Given the description of an element on the screen output the (x, y) to click on. 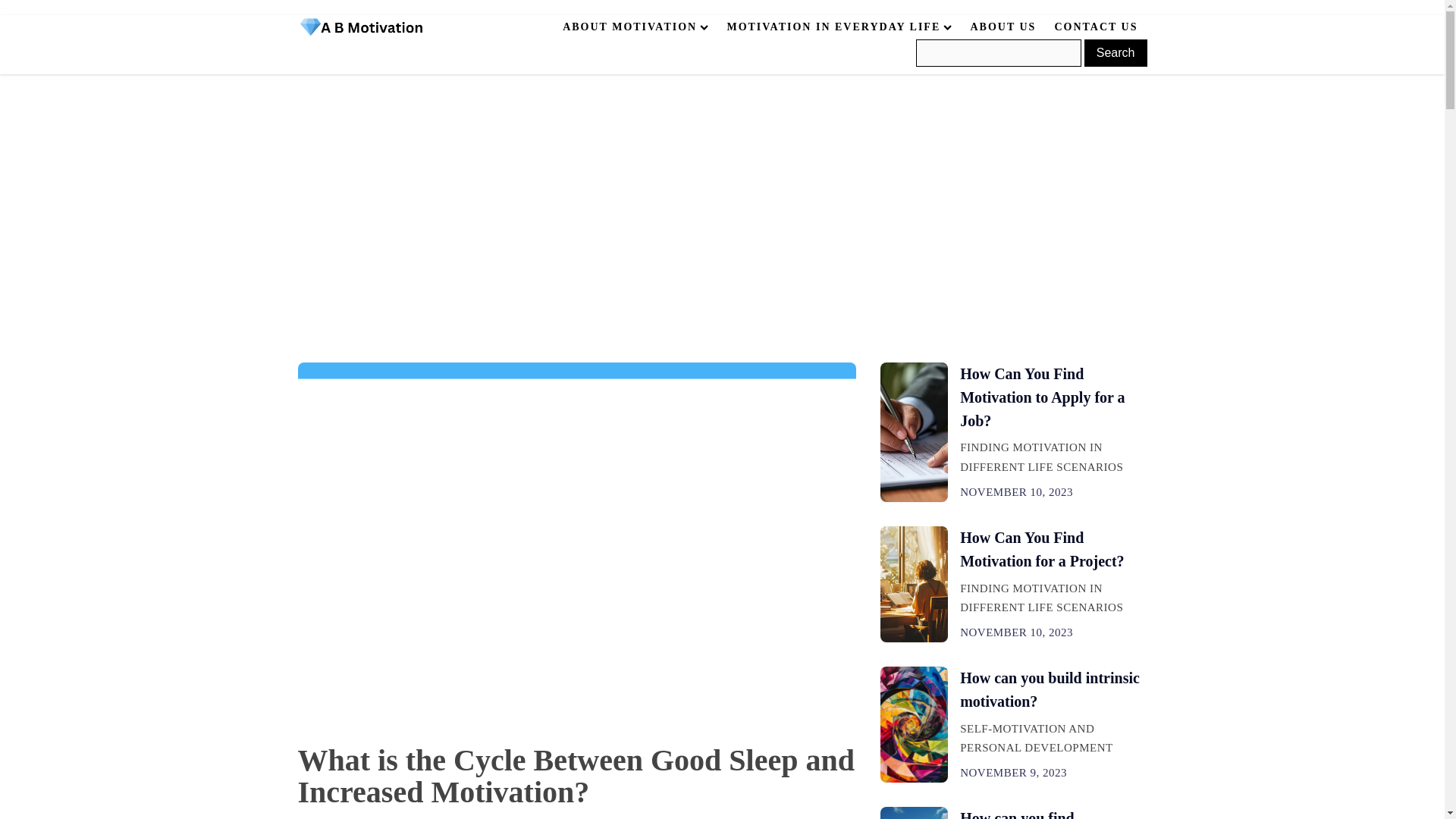
Search (1115, 52)
CONTACT US (1096, 27)
ABOUT MOTIVATION (635, 27)
MOTIVATION IN EVERYDAY LIFE (838, 27)
ABOUT US (1002, 27)
Search (1115, 52)
